Given the description of an element on the screen output the (x, y) to click on. 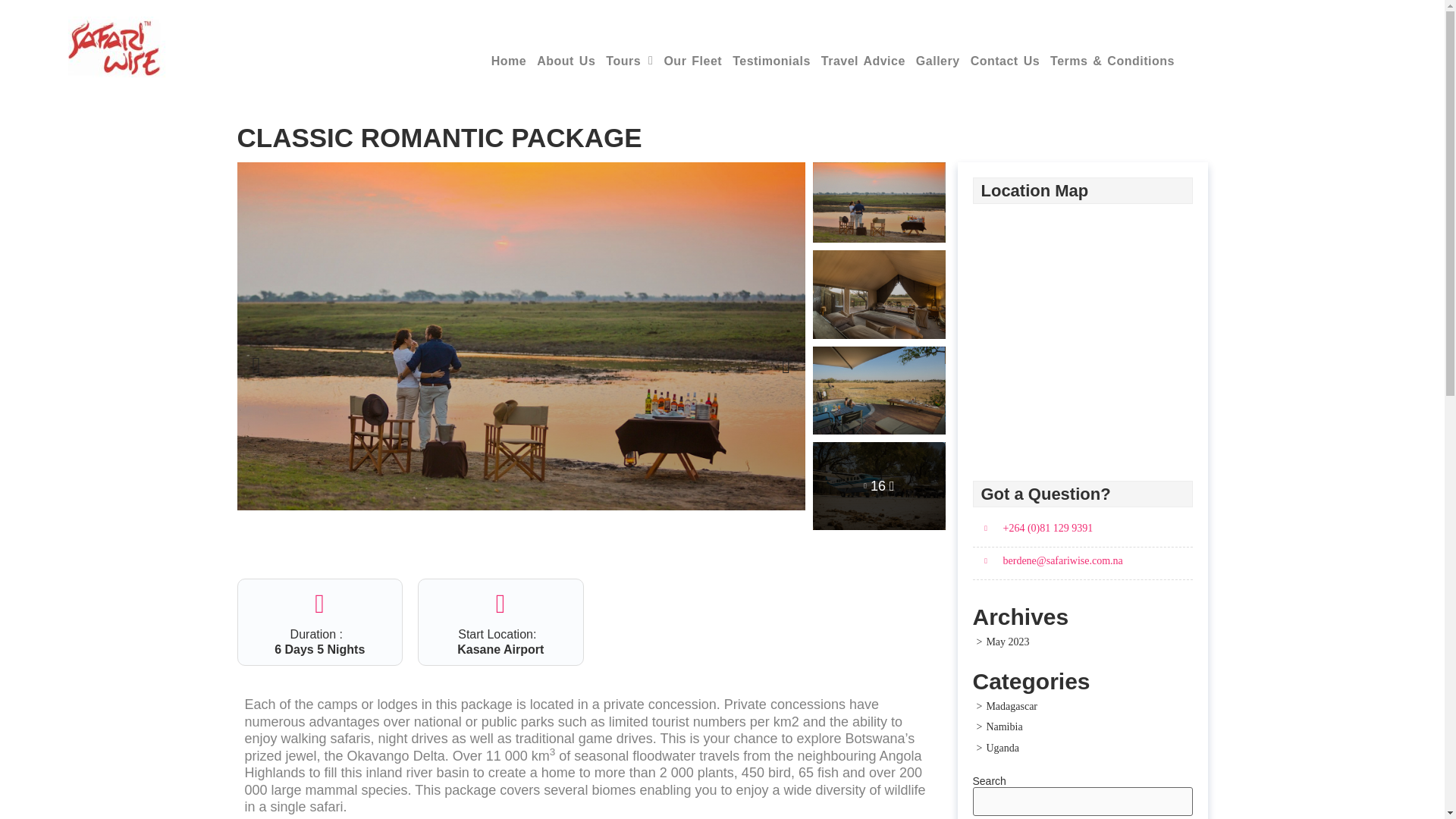
Uganda (997, 747)
May 2023 (1002, 641)
Home (508, 60)
Testimonials (771, 60)
About Us (566, 60)
Namibia (999, 726)
Madagascar (1007, 706)
Gallery (937, 60)
Travel Advice (863, 60)
Tours (628, 60)
Our Fleet (692, 60)
Contact Us (1005, 60)
Search (1002, 817)
